Given the description of an element on the screen output the (x, y) to click on. 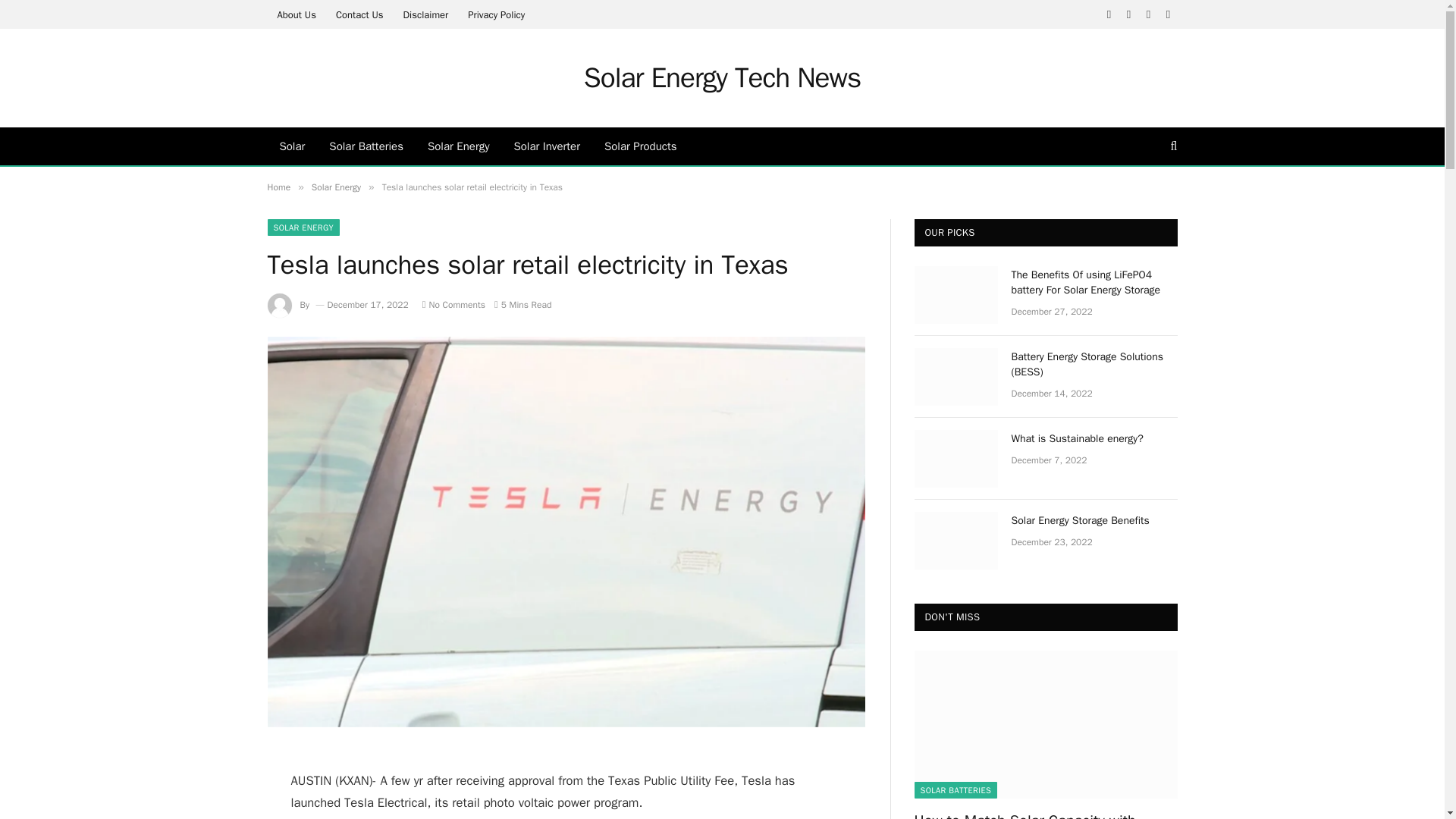
Solar Products (640, 146)
No Comments (453, 304)
Solar Energy (336, 186)
Contact Us (359, 14)
Privacy Policy (496, 14)
Solar (291, 146)
About Us (295, 14)
Home (277, 186)
Solar Energy (458, 146)
SOLAR ENERGY (302, 227)
Solar Inverter (545, 146)
Disclaimer (425, 14)
Solar Energy Tech News (721, 77)
Solar Batteries (365, 146)
